Given the description of an element on the screen output the (x, y) to click on. 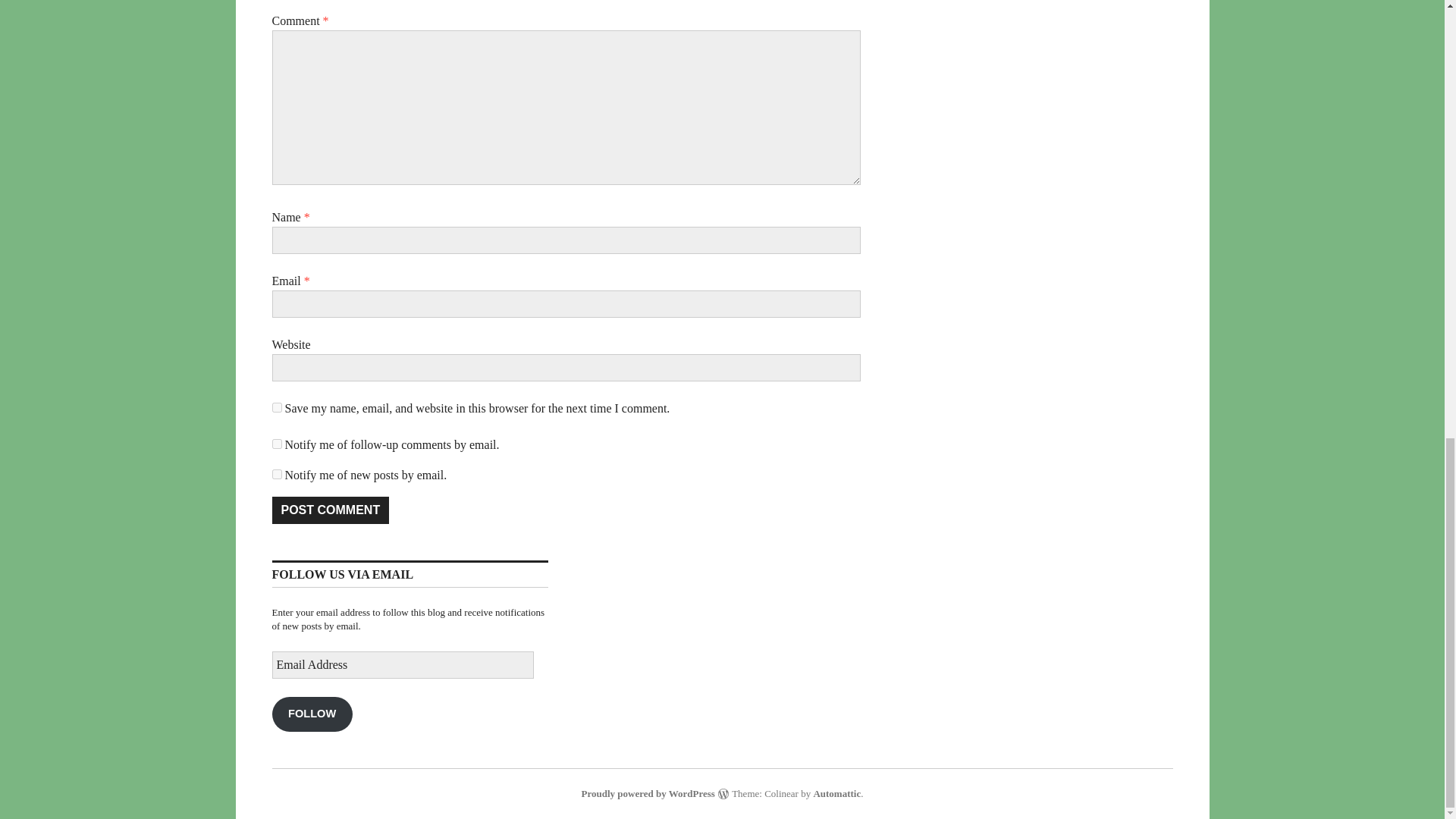
FOLLOW (311, 713)
Automattic (836, 793)
Post Comment (329, 510)
subscribe (275, 474)
subscribe (275, 443)
Proudly powered by WordPress (647, 793)
yes (275, 407)
Post Comment (329, 510)
